Given the description of an element on the screen output the (x, y) to click on. 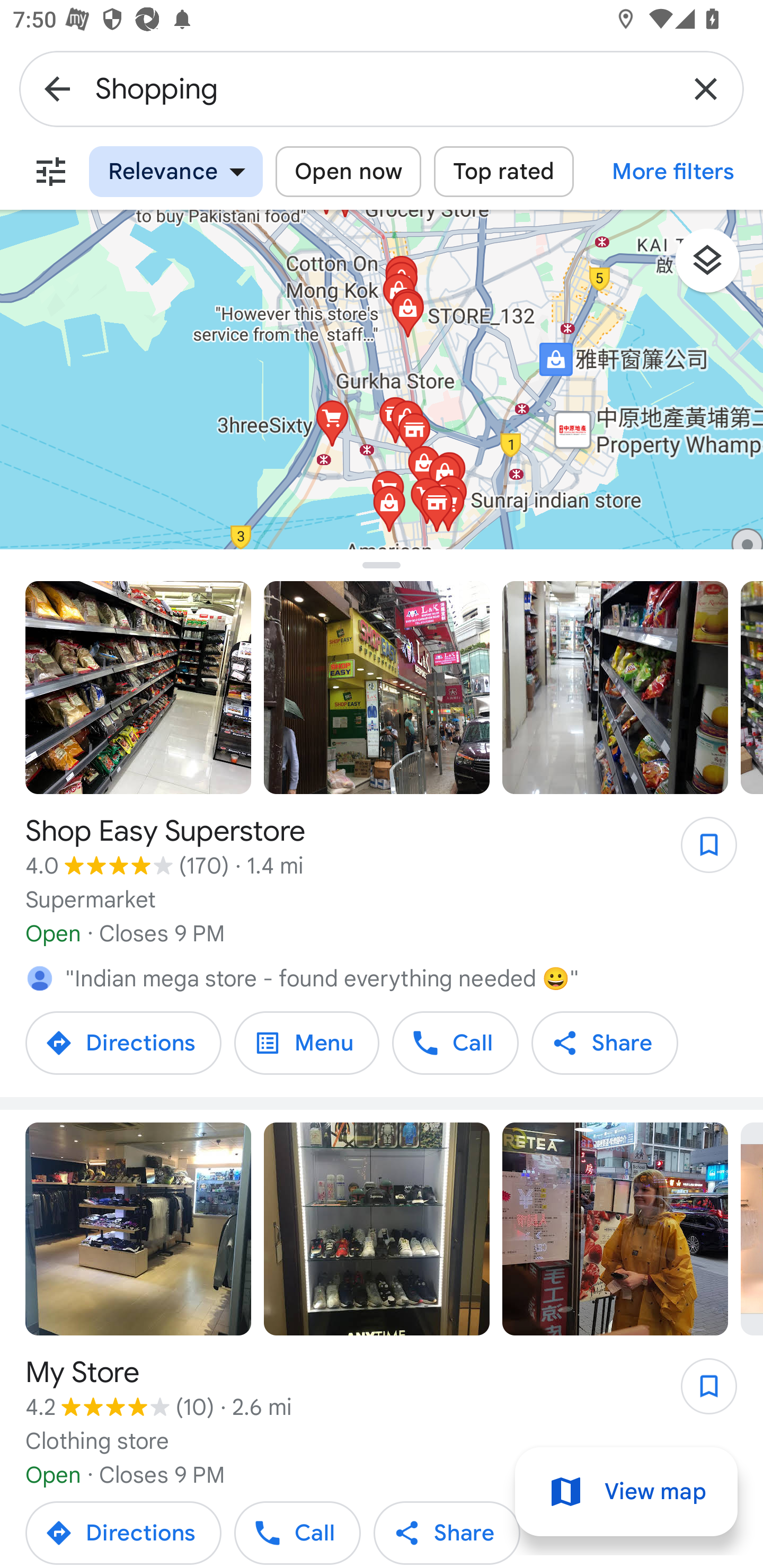
Back (57, 88)
Shopping (381, 88)
Clear (705, 88)
More filters (50, 171)
Relevance Relevance Relevance (175, 171)
Open now Open now Open now (348, 171)
Top rated Top rated Top rated (503, 171)
More filters More filters More filters (673, 171)
Layers (716, 267)
Photo (138, 687)
Photo (376, 687)
Photo (614, 687)
Save Shop Easy Superstore to lists (699, 851)
Photo (138, 1228)
Photo (376, 1228)
Photo (614, 1228)
Save My Store to lists (699, 1392)
View map Map view (626, 1491)
Call My Store Call Call My Store (297, 1531)
Share My Store Share Share My Store (446, 1531)
